Given the description of an element on the screen output the (x, y) to click on. 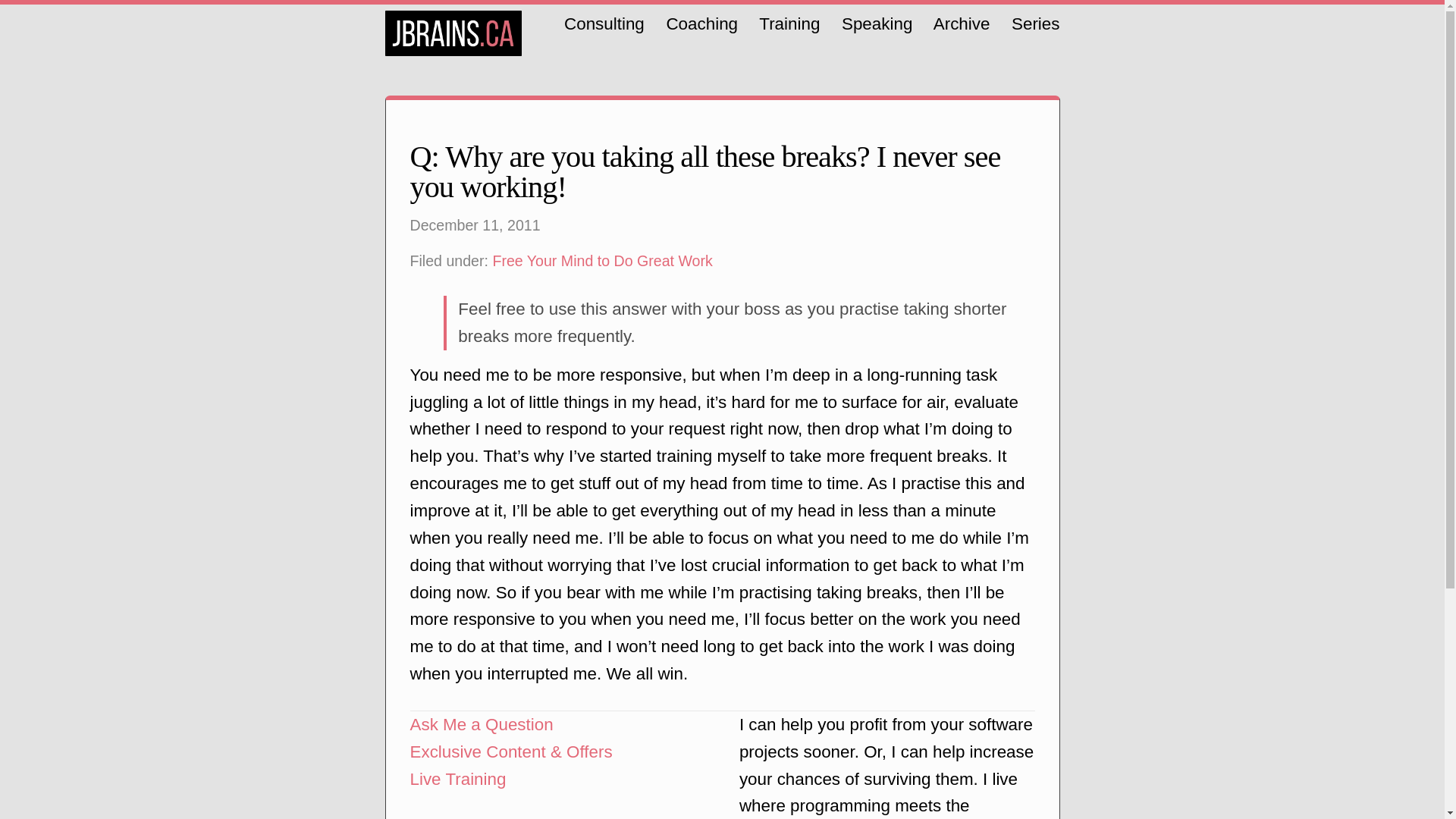
Free Your Mind to Do Great Work (601, 260)
Coaching (701, 23)
Archive (961, 23)
Live Training (457, 778)
Speaking (876, 23)
Ask Me a Question (481, 723)
Consulting (604, 23)
Series (1035, 23)
Training (788, 23)
